Given the description of an element on the screen output the (x, y) to click on. 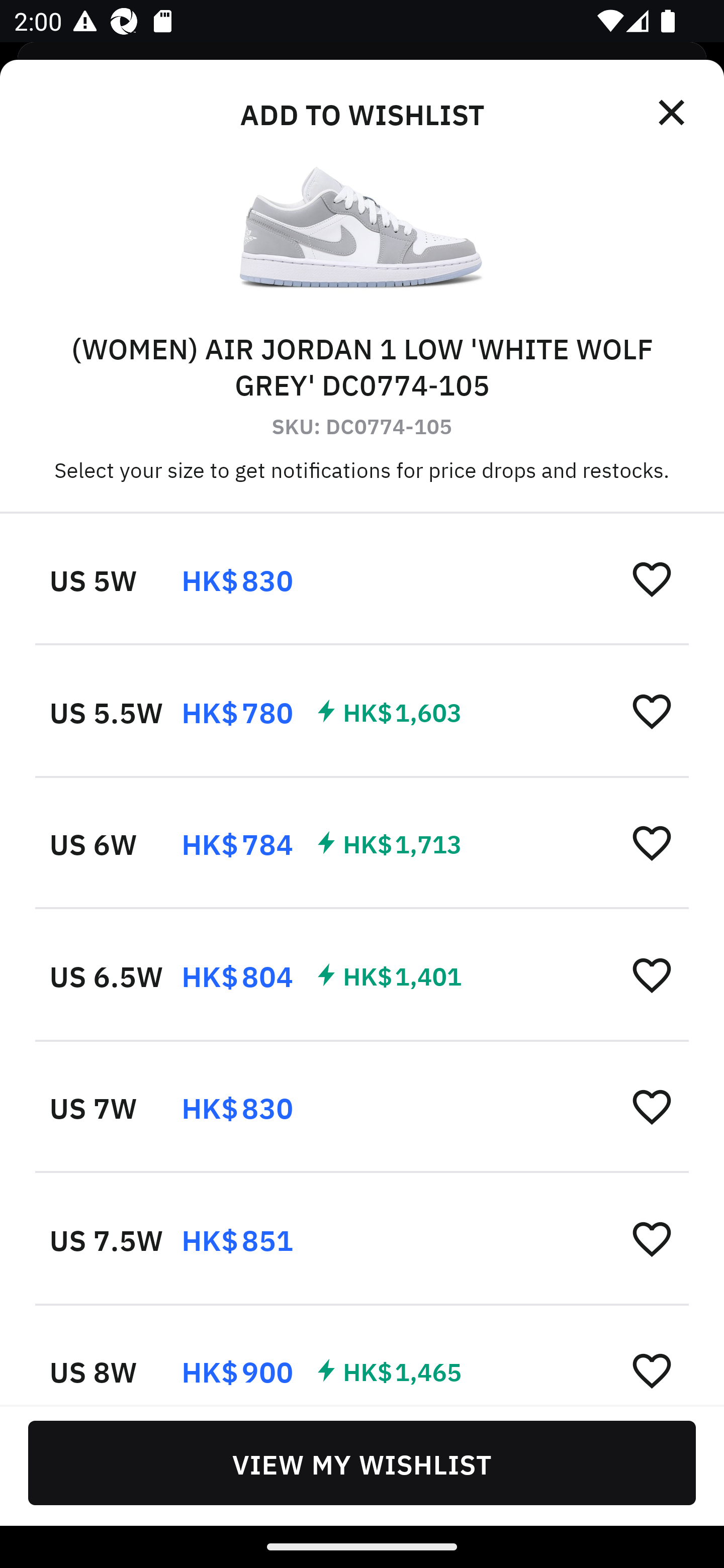
 (672, 112)
󰋕 (651, 578)
󰋕 (651, 710)
󰋕 (651, 842)
󰋕 (651, 974)
󰋕 (651, 1105)
󰋕 (651, 1237)
󰋕 (651, 1369)
VIEW MY WISHLIST (361, 1462)
